Given the description of an element on the screen output the (x, y) to click on. 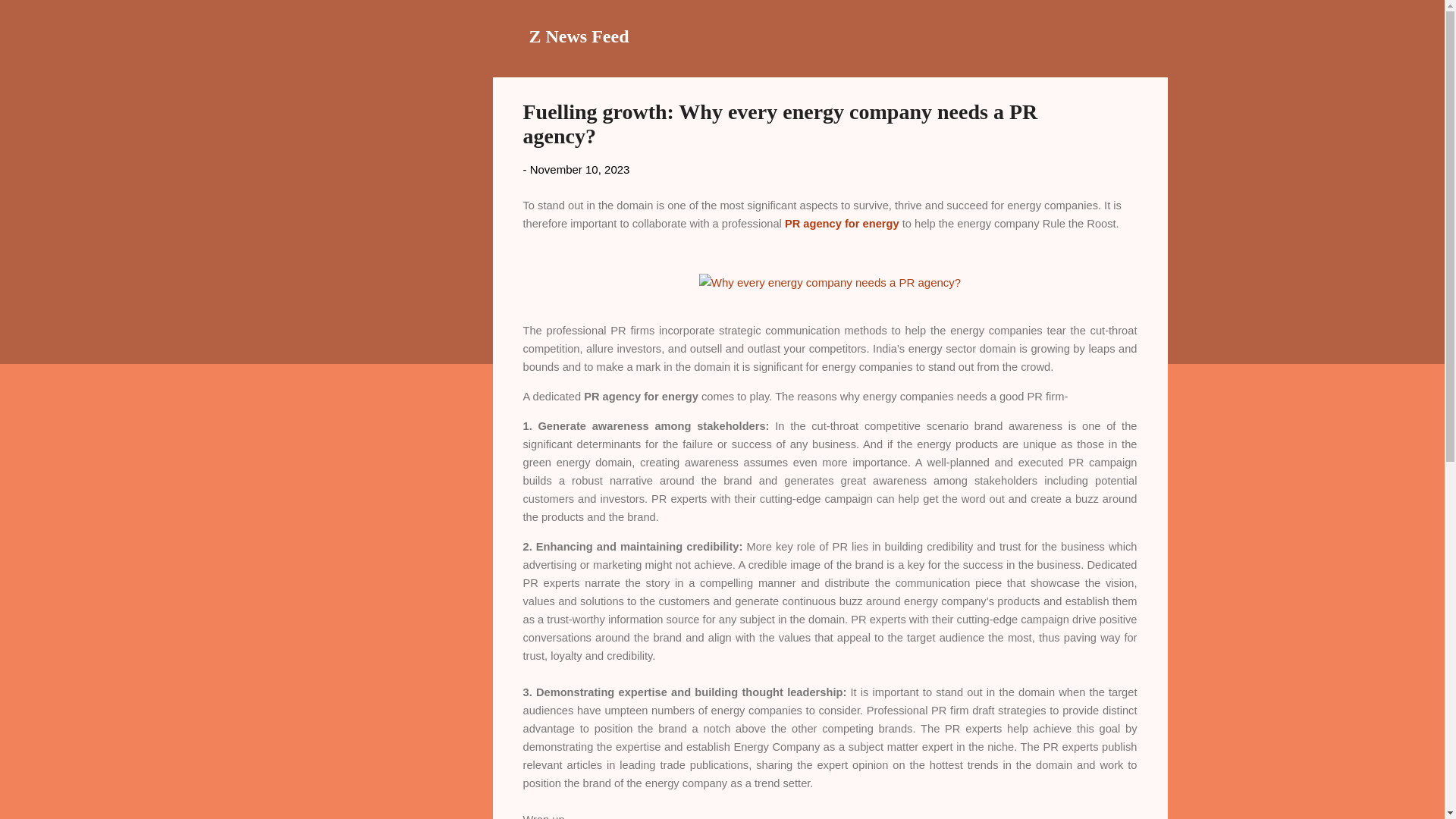
Z News Feed (578, 35)
Search (29, 18)
permanent link (579, 169)
PR agency for energy (841, 223)
November 10, 2023 (579, 169)
